Given the description of an element on the screen output the (x, y) to click on. 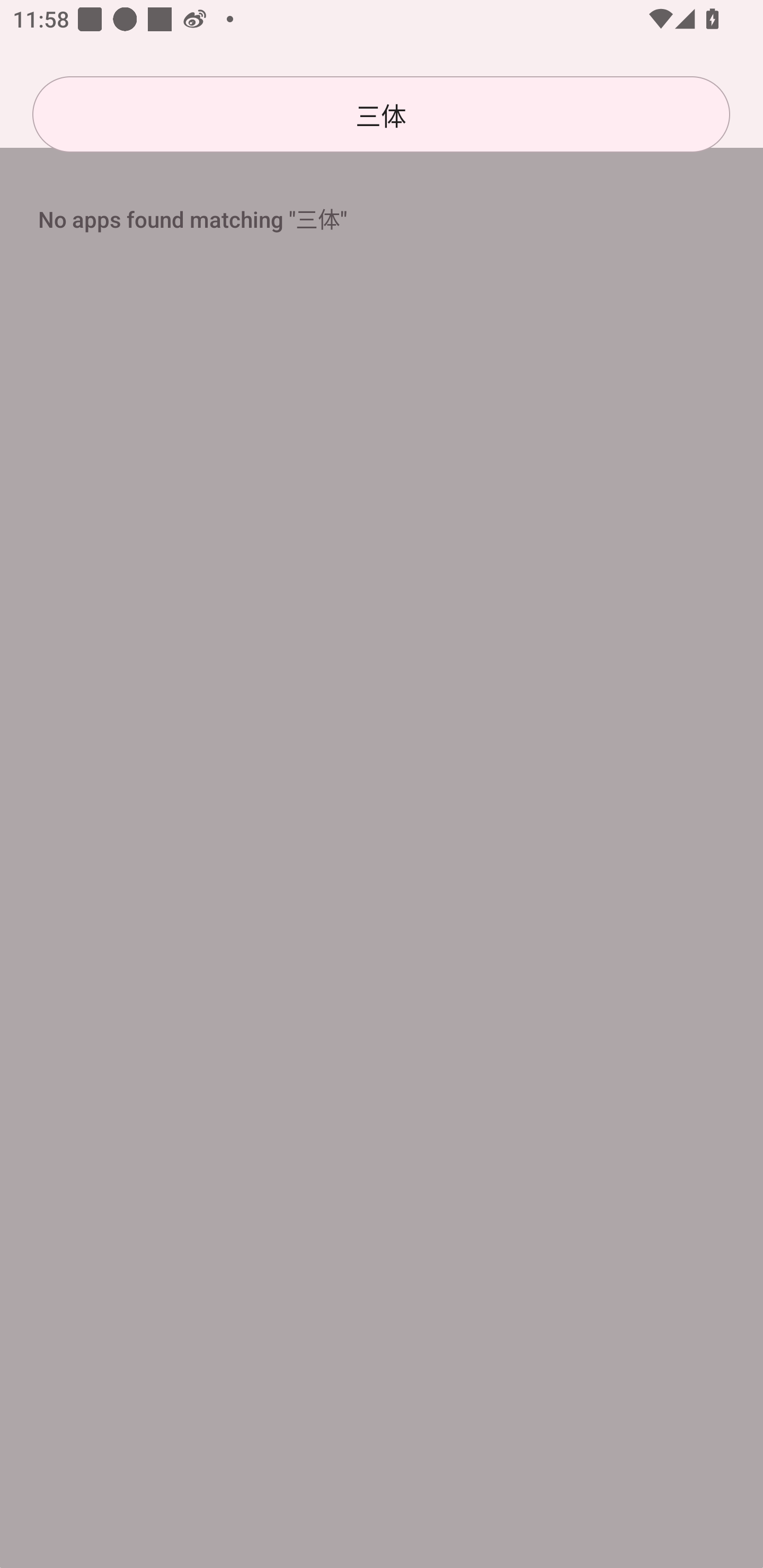
三体 (381, 114)
